Given the description of an element on the screen output the (x, y) to click on. 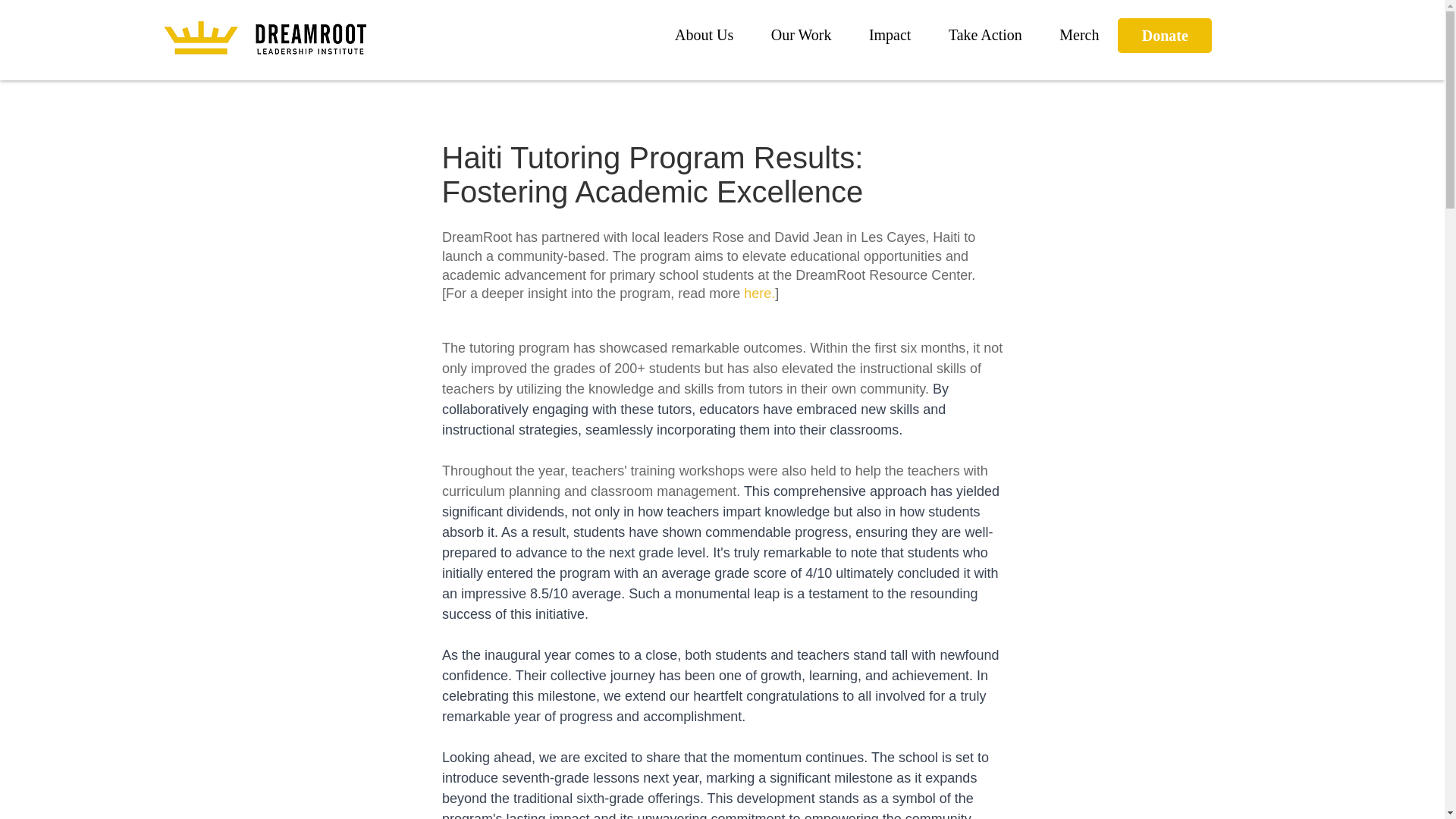
Merch (1079, 34)
Donate (1164, 35)
